Given the description of an element on the screen output the (x, y) to click on. 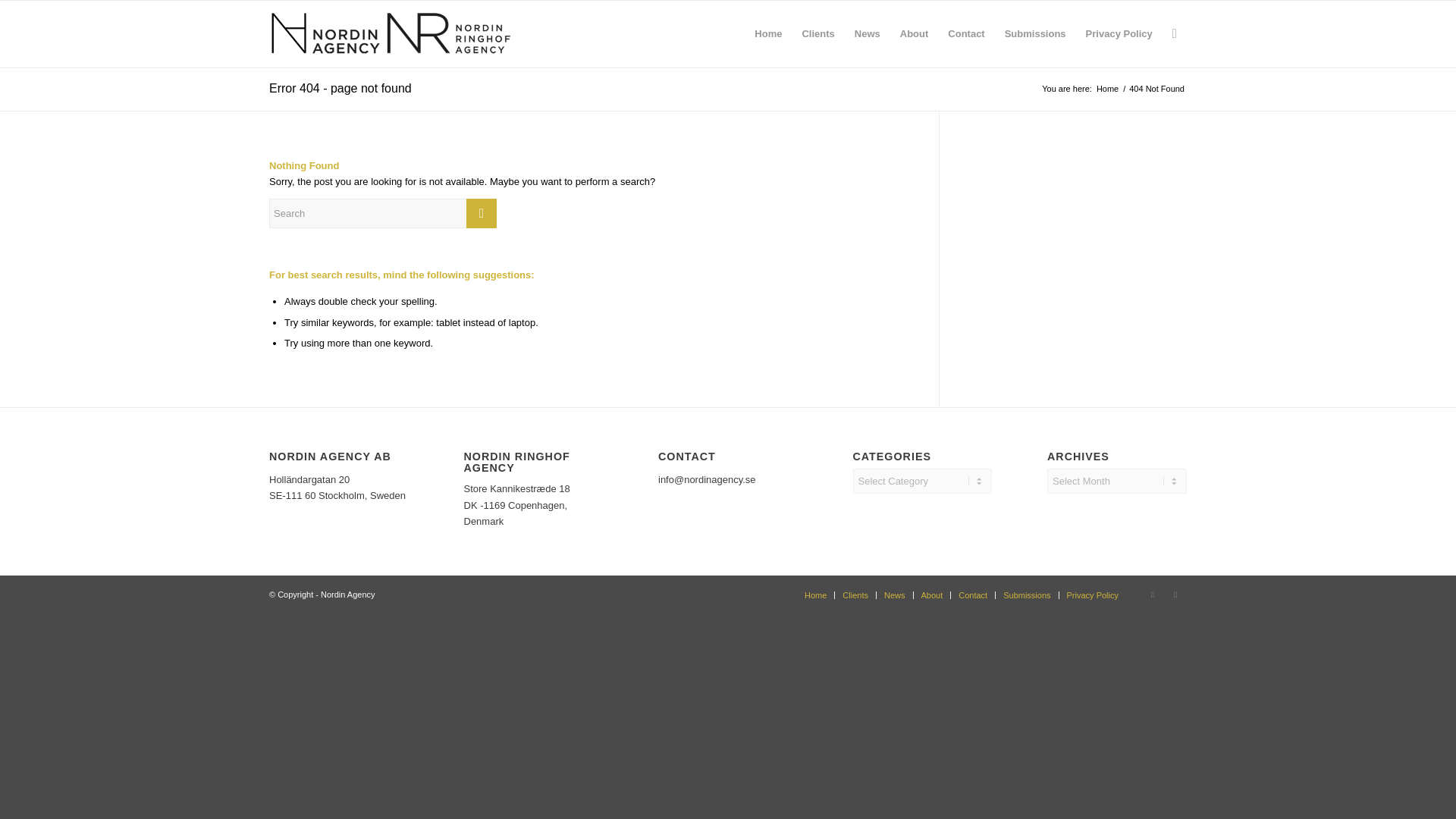
Privacy Policy (1118, 33)
Contact (972, 593)
Submissions (1026, 593)
About (931, 593)
Clients (855, 593)
Home (1107, 89)
News (894, 593)
Nordin Agency (1107, 89)
Privacy Policy (1092, 593)
Submissions (1034, 33)
Facebook (1174, 593)
Home (816, 593)
Instagram (1152, 593)
